Given the description of an element on the screen output the (x, y) to click on. 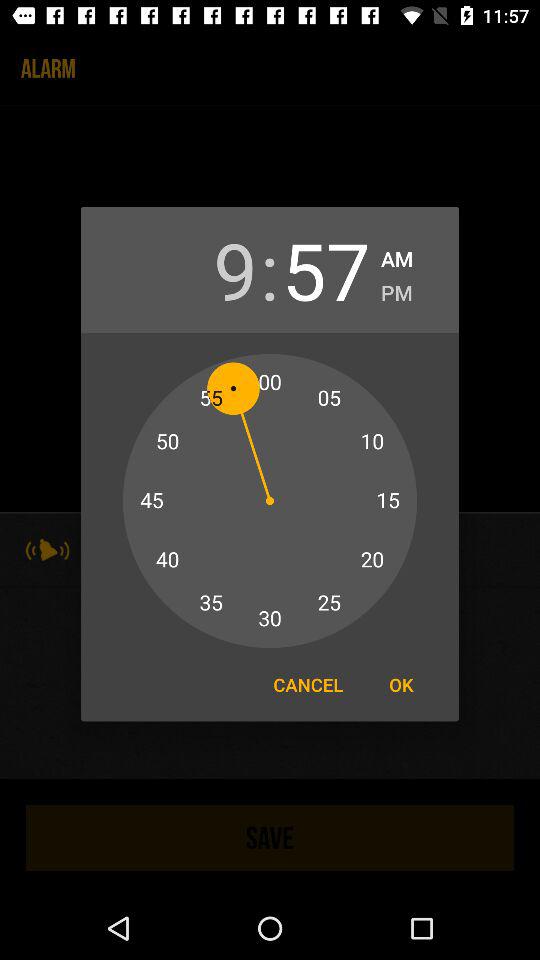
choose icon to the right of the cancel item (401, 684)
